Given the description of an element on the screen output the (x, y) to click on. 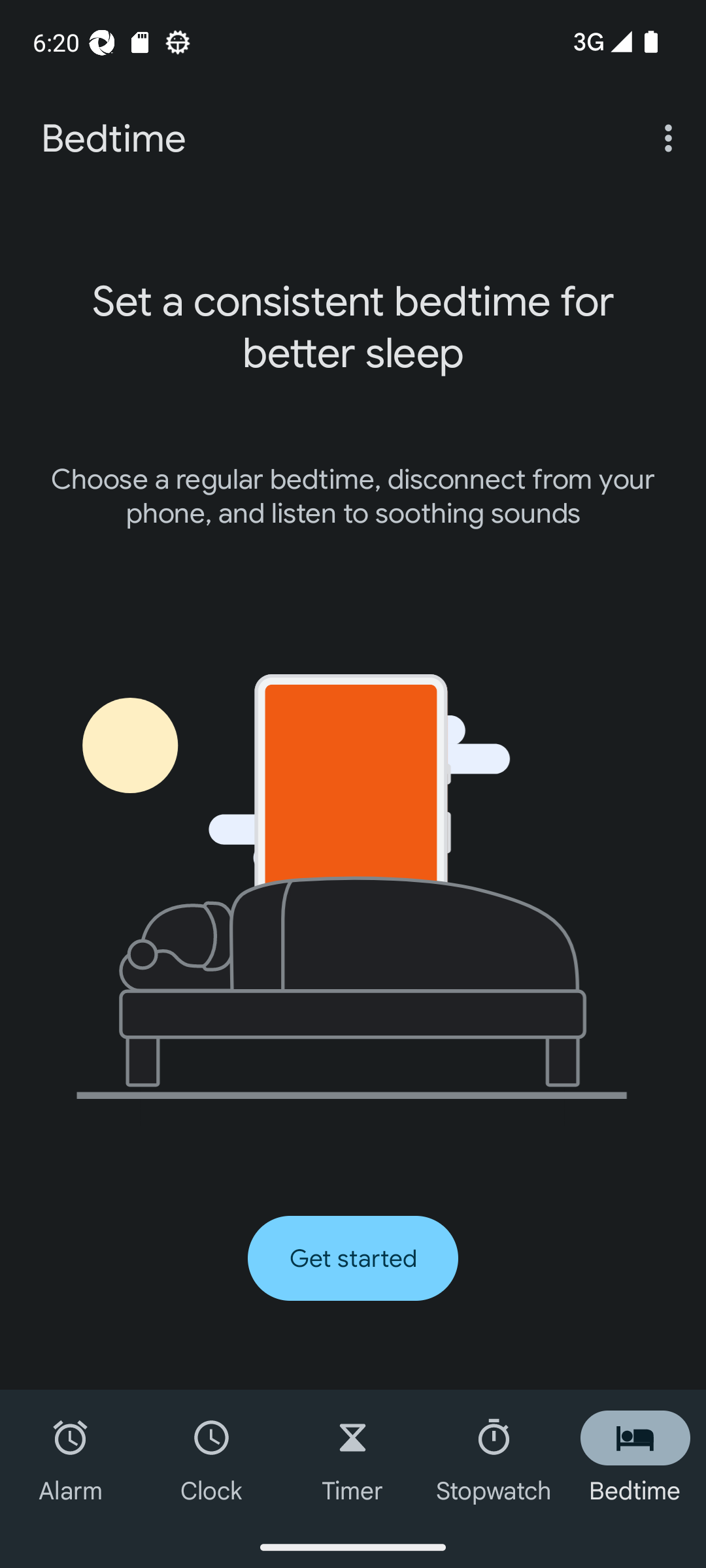
More options (671, 137)
Get started (352, 1257)
Alarm (70, 1458)
Clock (211, 1458)
Timer (352, 1458)
Stopwatch (493, 1458)
